Given the description of an element on the screen output the (x, y) to click on. 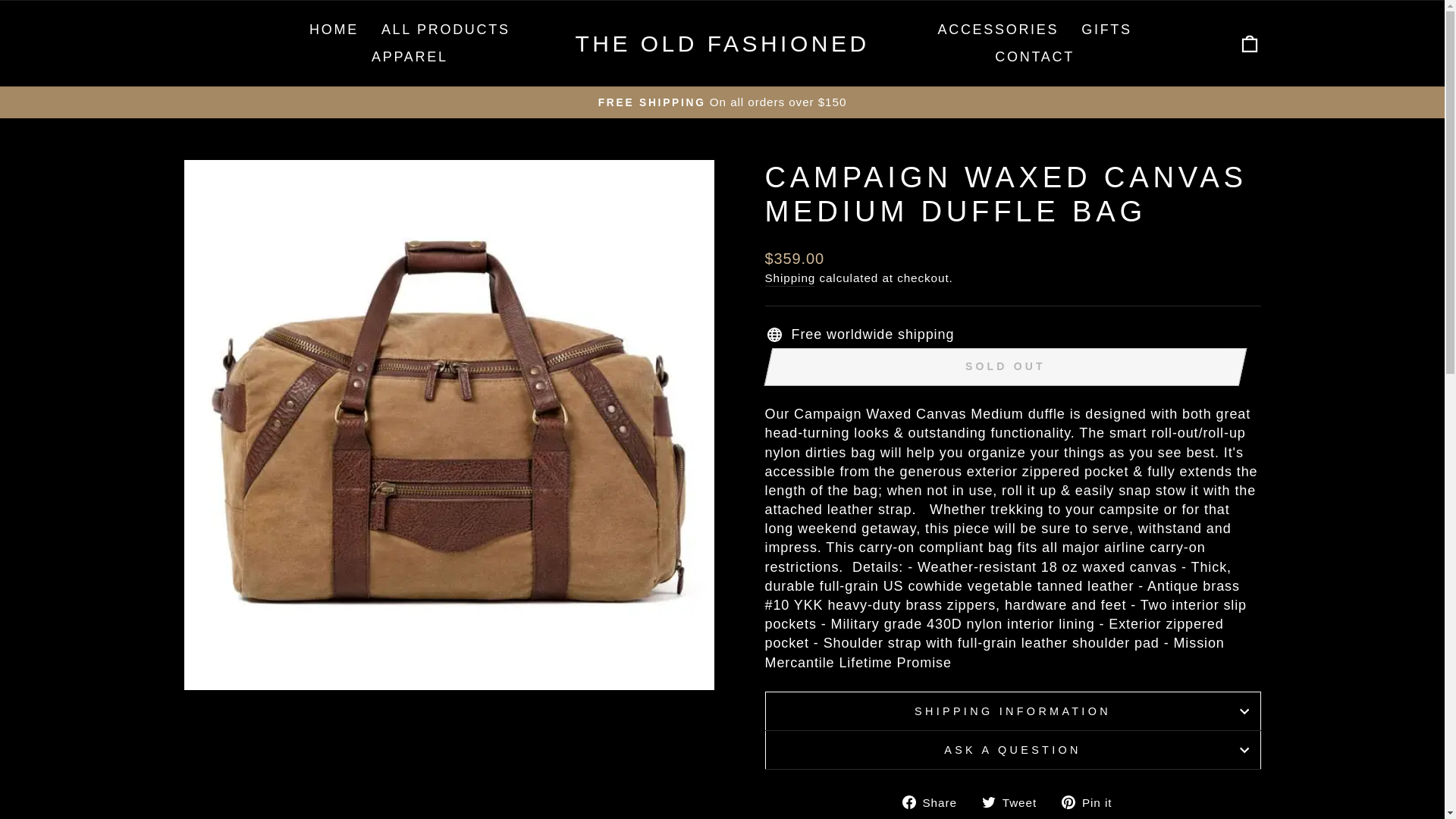
Tweet on Twitter (935, 801)
Shipping (1014, 801)
Pin on Pinterest (789, 278)
SOLD OUT (1091, 801)
ASK A QUESTION (1005, 366)
ICON-BAG-MINIMAL (1012, 750)
Share on Facebook (1091, 801)
ACCESSORIES (1249, 43)
